Given the description of an element on the screen output the (x, y) to click on. 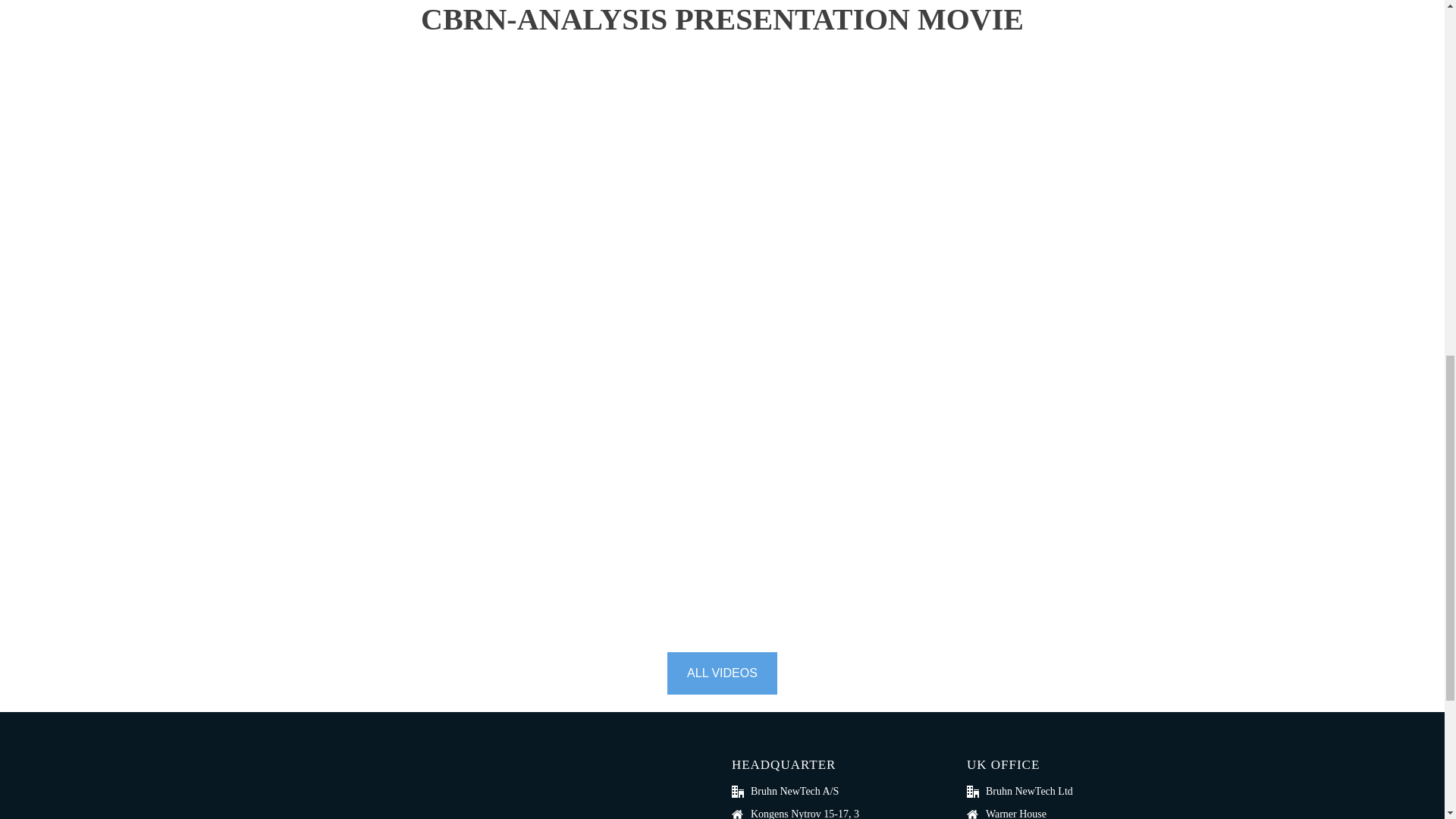
Bruhn NewTech YouTube Channel (721, 672)
ALL VIDEOS (721, 672)
